Given the description of an element on the screen output the (x, y) to click on. 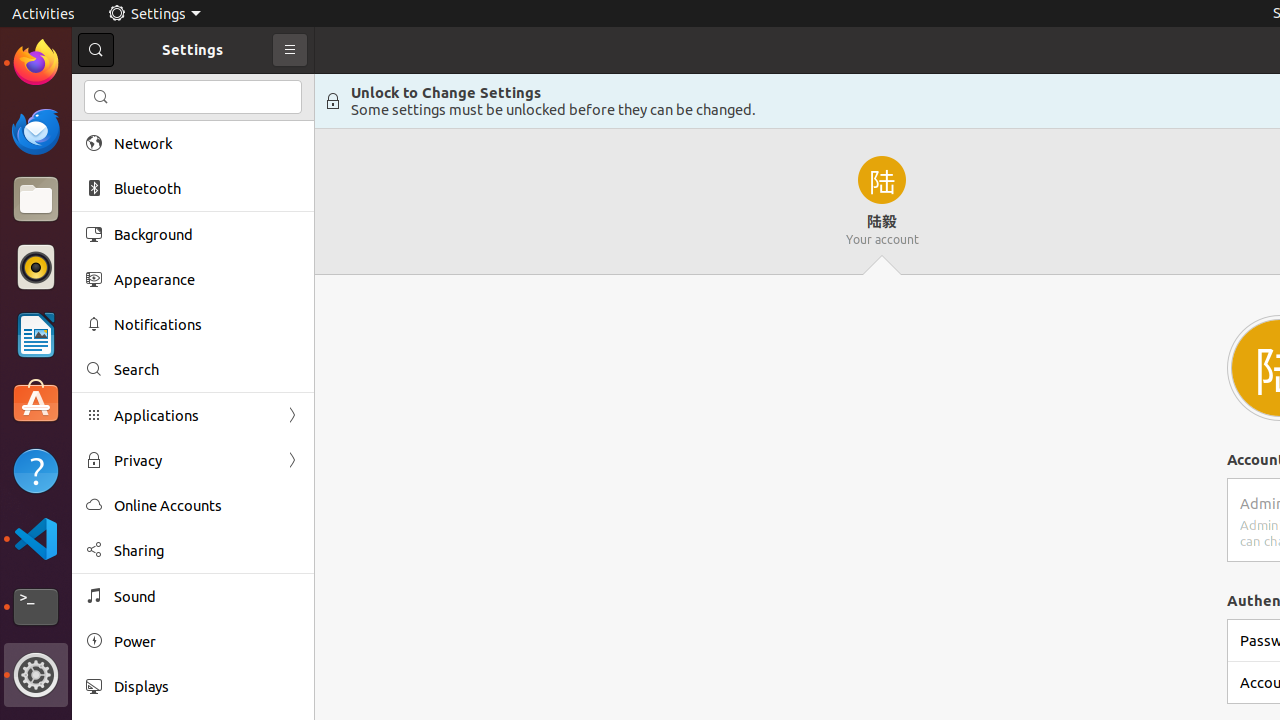
Search Element type: label (207, 369)
Privacy Element type: label (193, 460)
Appearance Element type: label (207, 279)
Bluetooth Element type: label (207, 188)
Background Element type: label (207, 234)
